Given the description of an element on the screen output the (x, y) to click on. 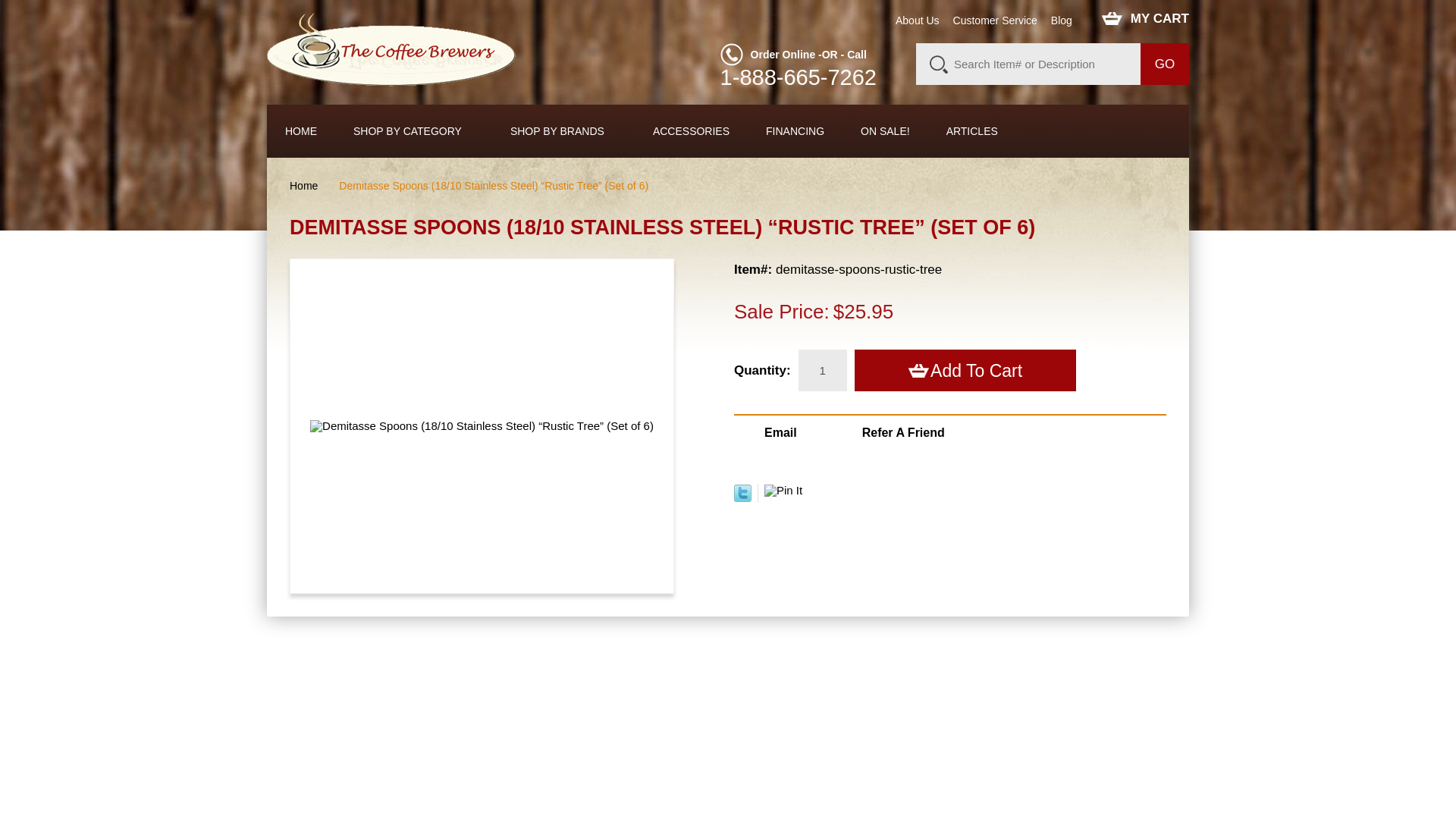
Blog (1061, 20)
HOME (301, 131)
Pin It (783, 490)
SHOP BY CATEGORY (413, 131)
Add To Cart (964, 370)
Tweet (742, 497)
About Us (917, 20)
Go (1164, 64)
1 (822, 370)
coffee-brewers (390, 49)
Go (1164, 64)
Customer Service (994, 20)
Go (1164, 64)
MY CART (1145, 18)
